Given the description of an element on the screen output the (x, y) to click on. 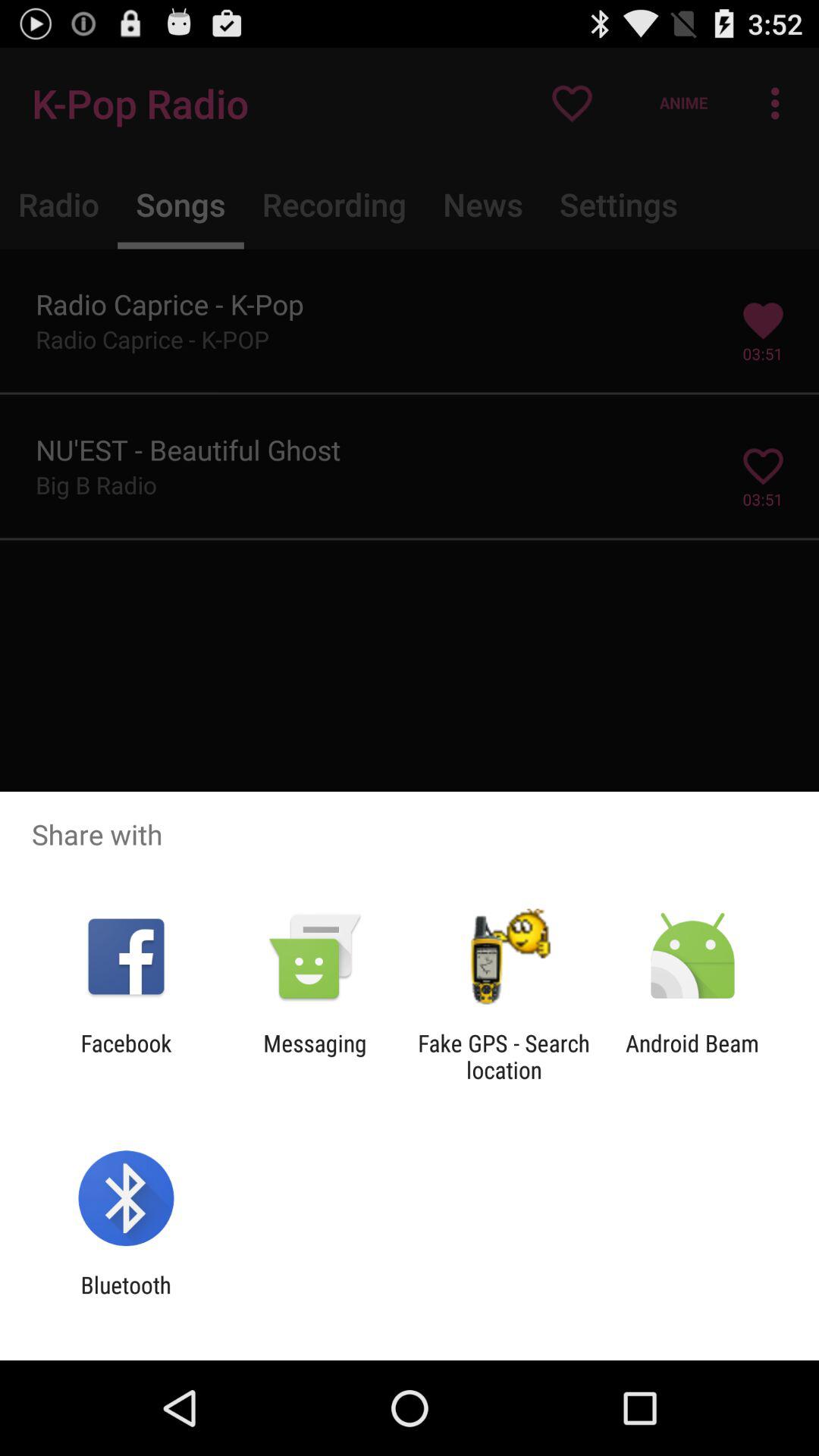
turn off item to the right of fake gps search icon (692, 1056)
